Given the description of an element on the screen output the (x, y) to click on. 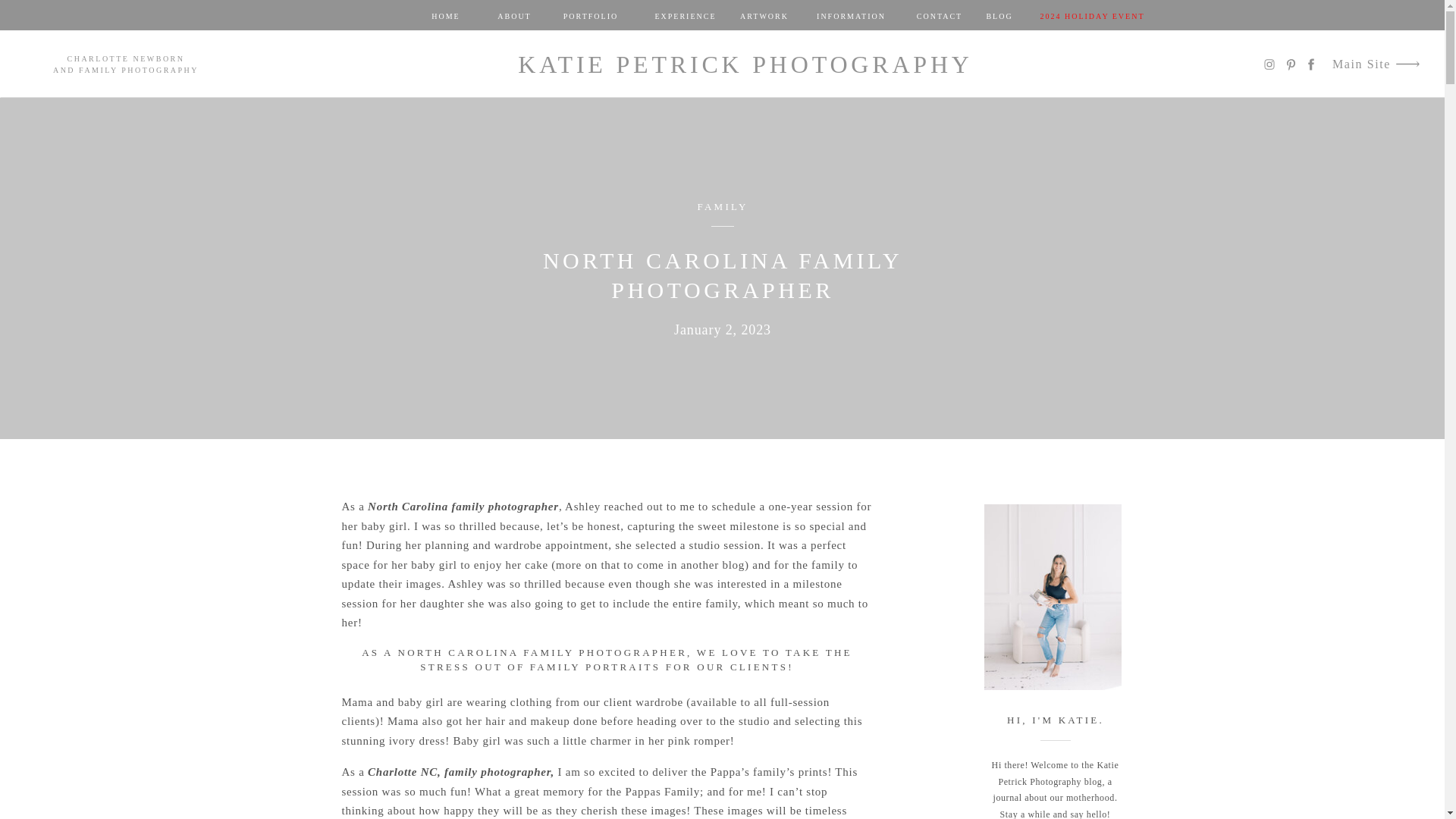
Main Site (1359, 65)
EXPERIENCE (684, 15)
FAMILY (722, 206)
INFORMATION (850, 15)
HOME (445, 15)
ARTWORK (764, 15)
CONTACT (939, 15)
ABOUT (514, 15)
KATIE PETRICK PHOTOGRAPHY (746, 64)
arrow (1407, 63)
